Given the description of an element on the screen output the (x, y) to click on. 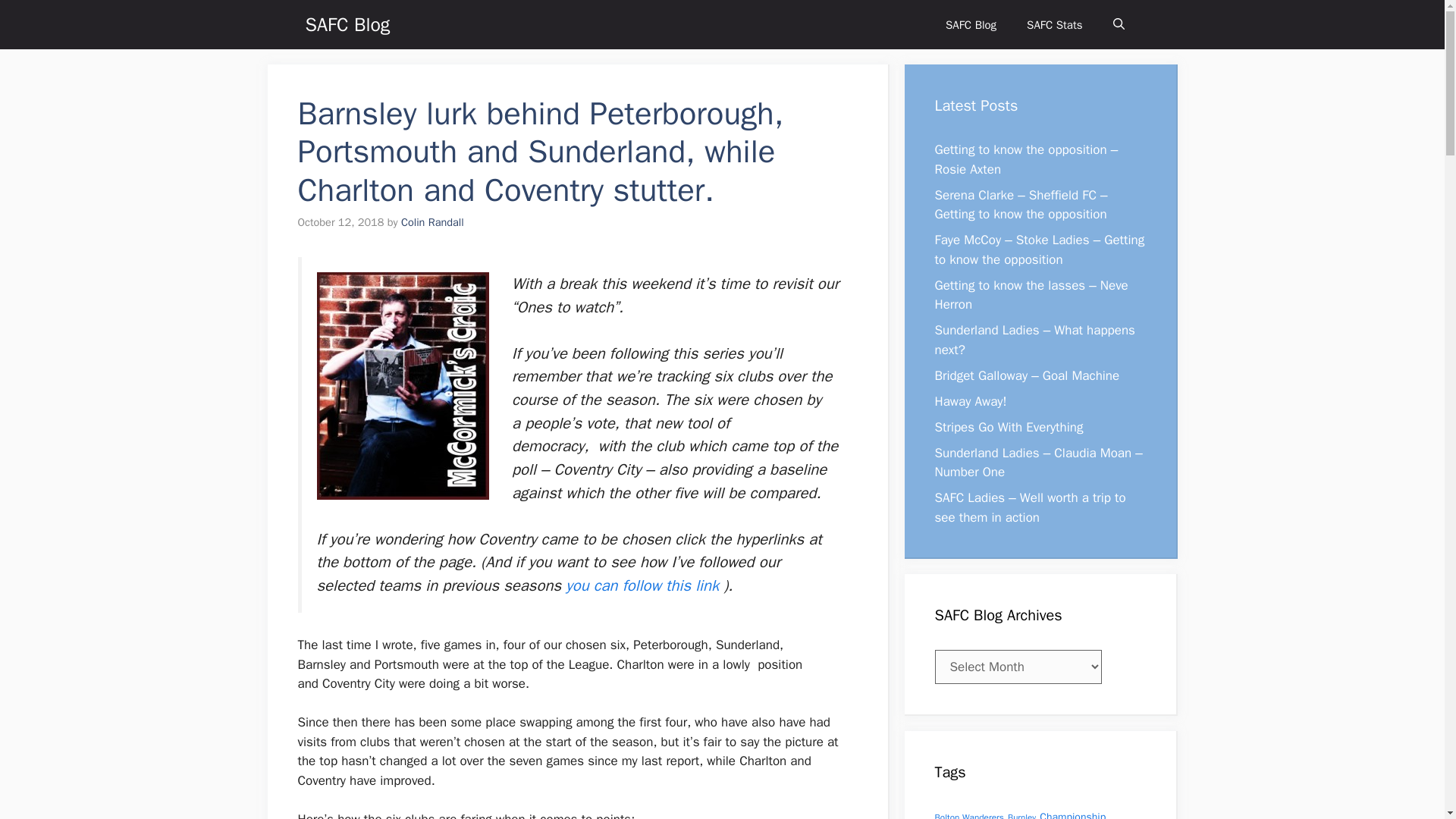
SAFC Blog (970, 23)
SAFC Blog (347, 24)
View all posts by Colin Randall (432, 222)
Colin Randall (432, 222)
SAFC Stats (1054, 23)
you can follow this link (642, 585)
